Given the description of an element on the screen output the (x, y) to click on. 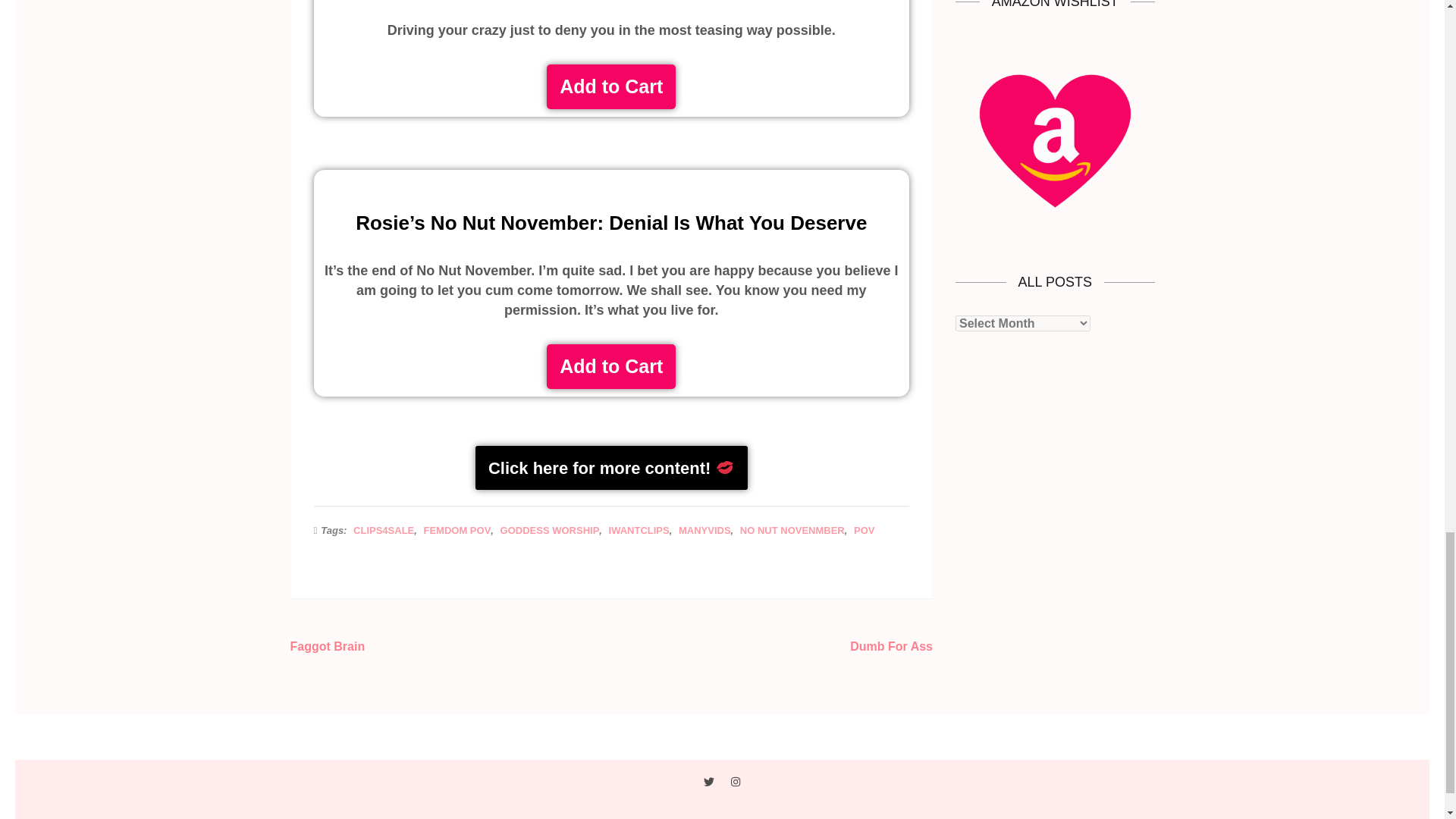
twitter (708, 781)
instagram (734, 781)
